Given the description of an element on the screen output the (x, y) to click on. 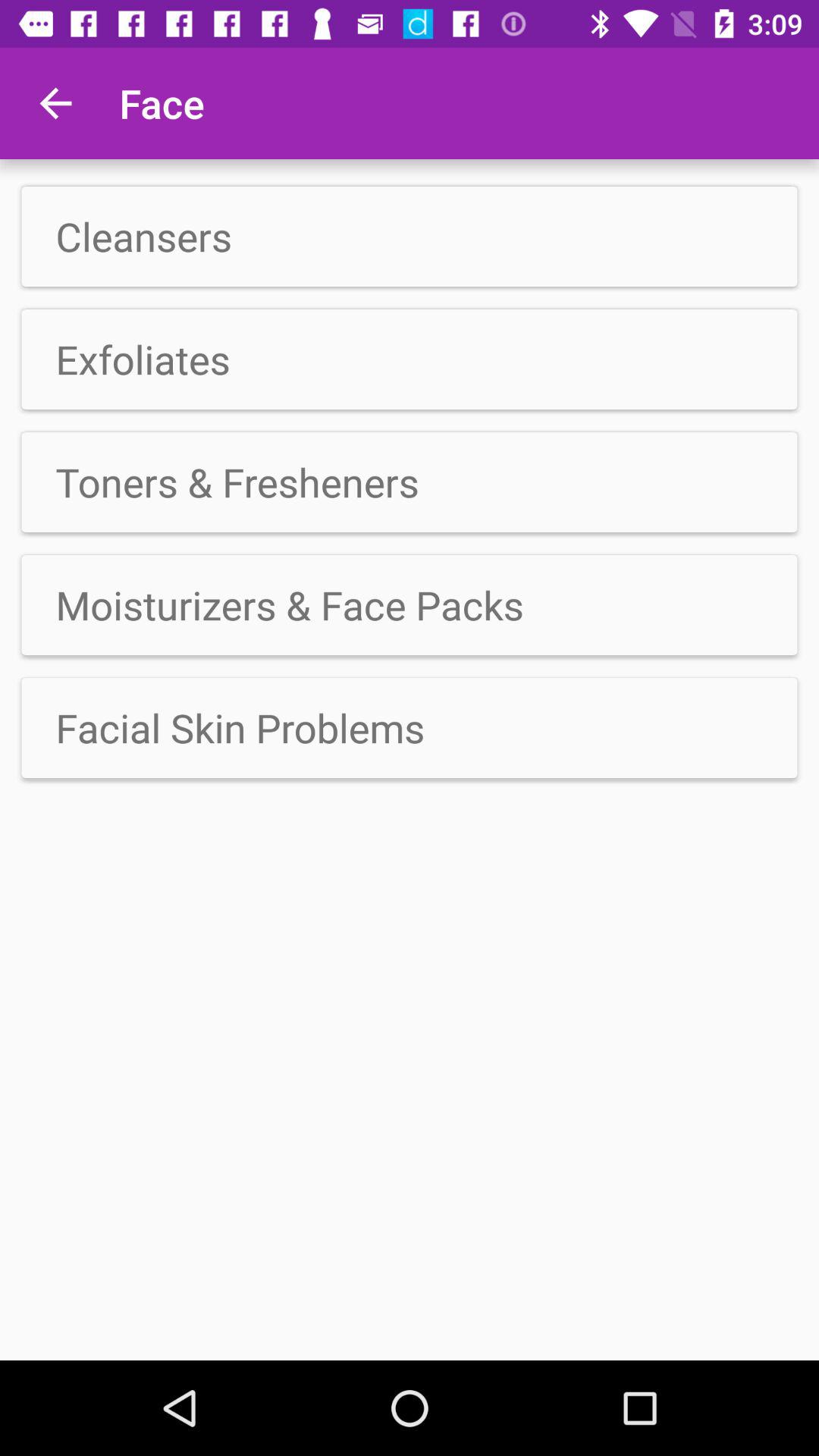
press the item above exfoliates app (409, 236)
